Given the description of an element on the screen output the (x, y) to click on. 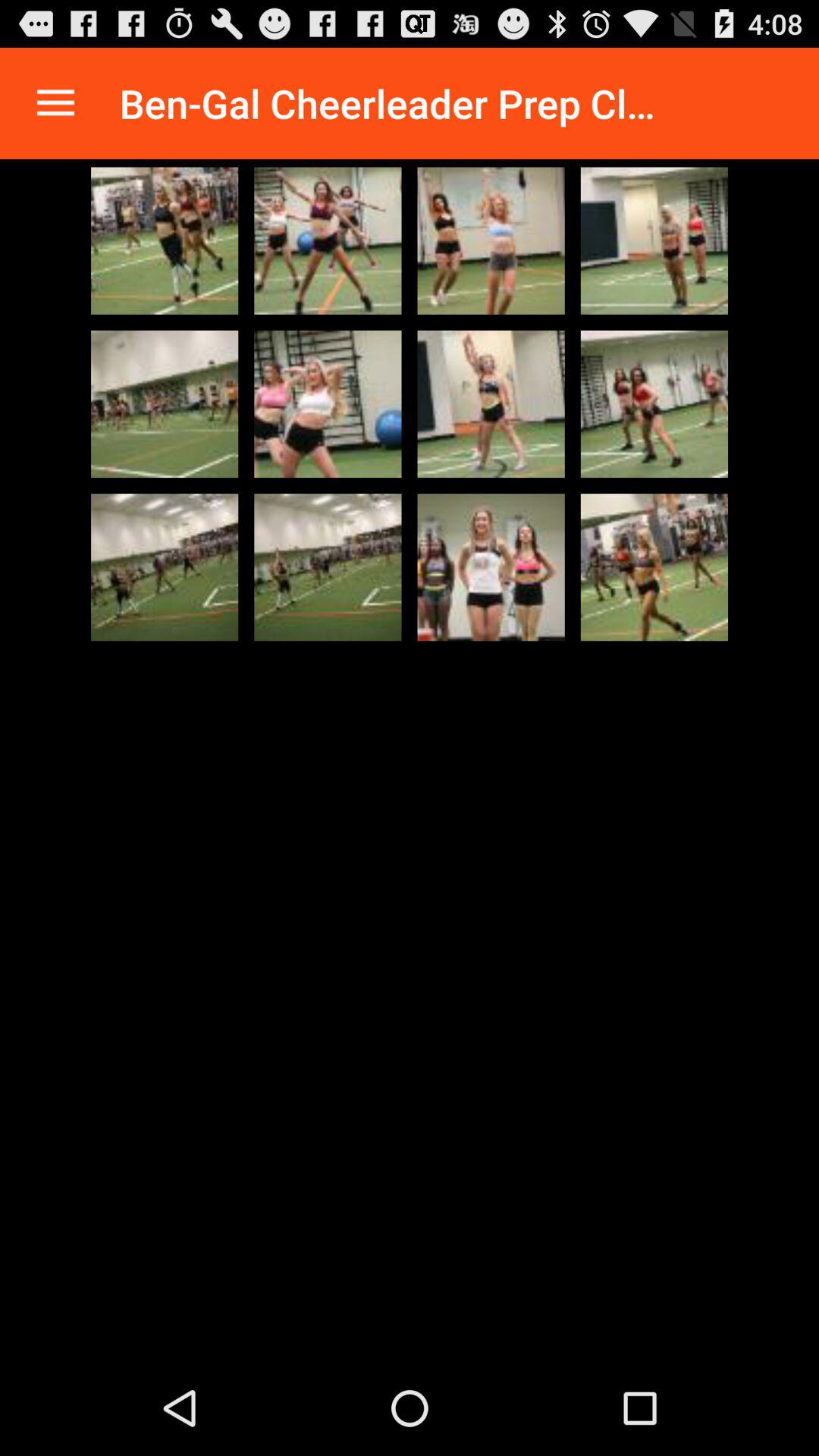
view selected photo (654, 403)
